Given the description of an element on the screen output the (x, y) to click on. 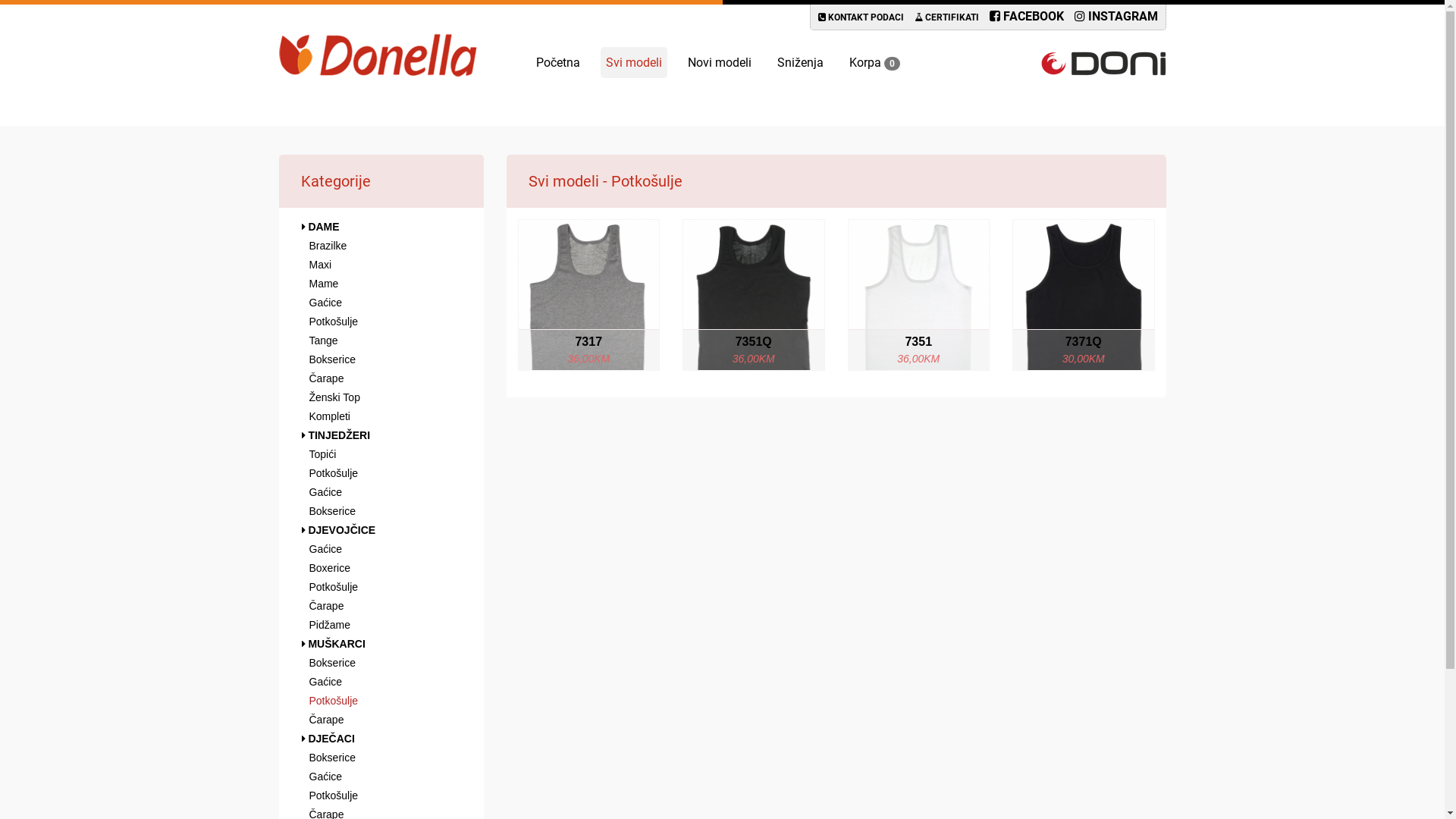
Bokserice Element type: text (381, 359)
Boxerice Element type: text (381, 567)
DAME Element type: text (381, 226)
INSTAGRAM Element type: text (1115, 16)
7351Q
36,00KM Element type: text (753, 294)
FACEBOOK Element type: text (1026, 16)
Korpa 0 Element type: text (873, 62)
Mame Element type: text (381, 283)
Svi modeli Element type: text (633, 62)
Tange Element type: text (381, 340)
Bokserice Element type: text (381, 662)
Brazilke Element type: text (381, 245)
7317
36,00KM Element type: text (588, 294)
7351
36,00KM Element type: text (917, 294)
KONTAKT PODACI Element type: text (860, 17)
CERTIFIKATI Element type: text (946, 17)
Kompleti Element type: text (381, 415)
Bokserice Element type: text (381, 510)
7371Q
30,00KM Element type: text (1083, 294)
Novi modeli Element type: text (719, 62)
Bokserice Element type: text (381, 757)
Maxi Element type: text (381, 264)
